Given the description of an element on the screen output the (x, y) to click on. 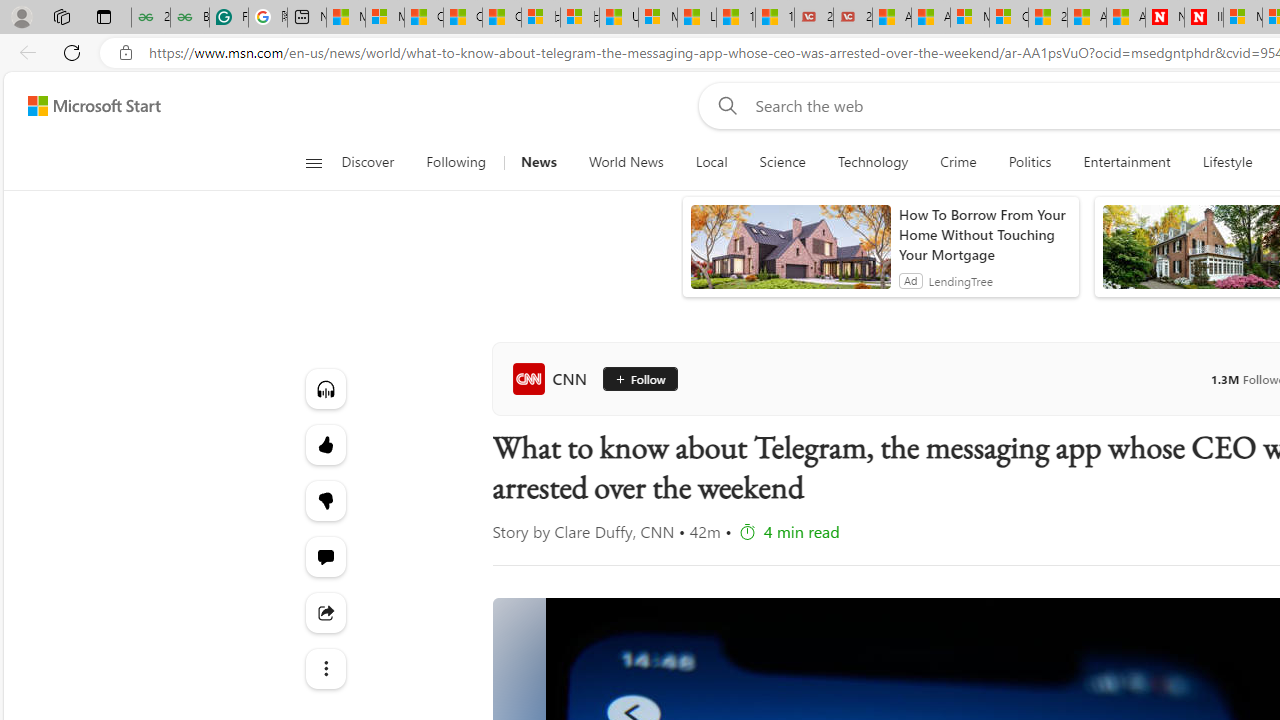
15 Ways Modern Life Contradicts the Teachings of Jesus (774, 17)
Share this story (324, 612)
anim-content (789, 255)
